Given the description of an element on the screen output the (x, y) to click on. 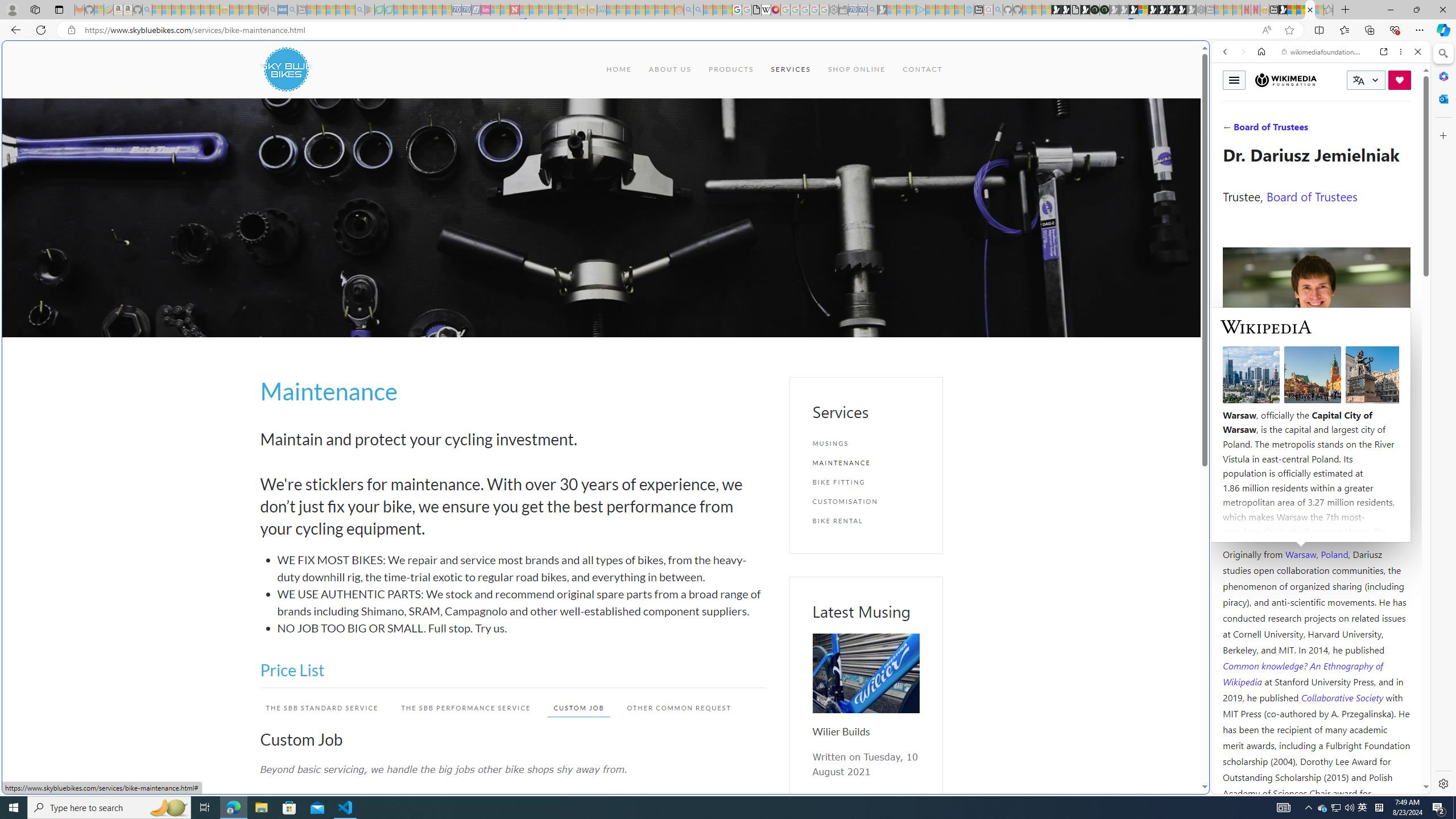
Kozminski University (1316, 486)
Tabs you've opened (885, 151)
Latest Politics News & Archive | Newsweek.com - Sleeping (514, 9)
Kinda Frugal - MSN - Sleeping (649, 9)
Target page - Wikipedia (766, 9)
Earth has six continents not seven, radical new study claims (1300, 9)
